Given the description of an element on the screen output the (x, y) to click on. 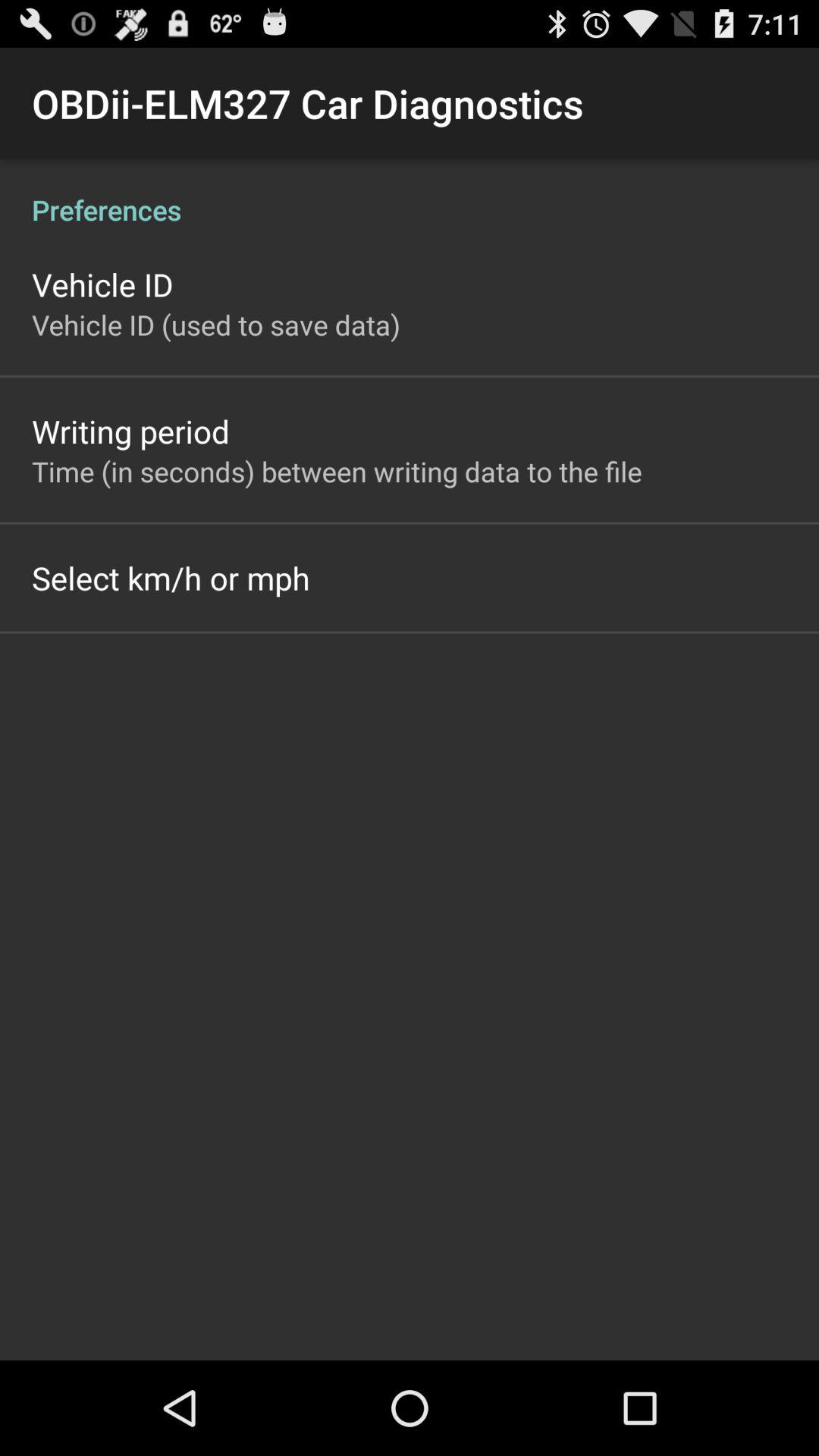
press the icon below the obdii elm327 car icon (409, 193)
